Given the description of an element on the screen output the (x, y) to click on. 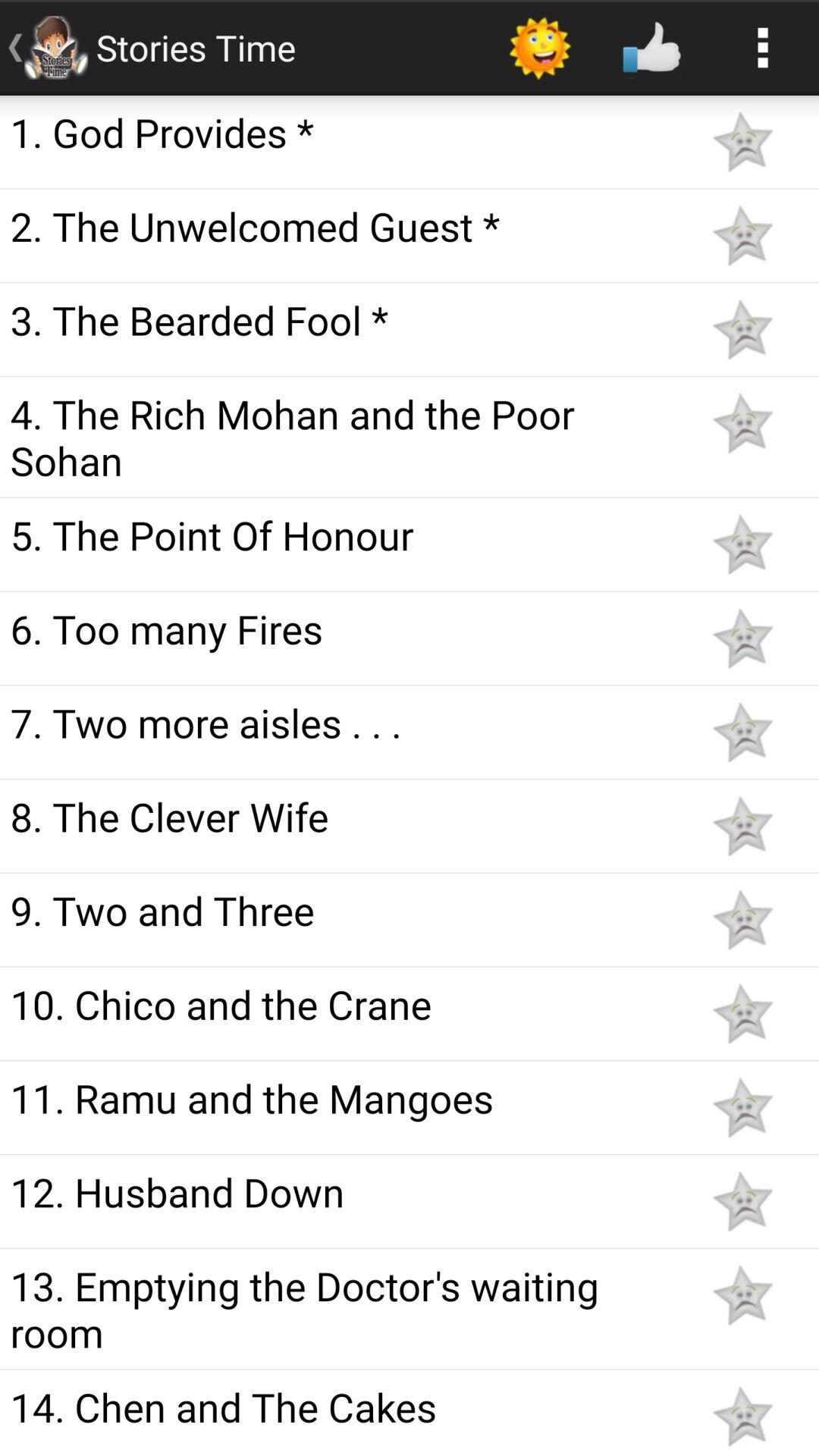
press icon above 13 emptying the app (343, 1191)
